Given the description of an element on the screen output the (x, y) to click on. 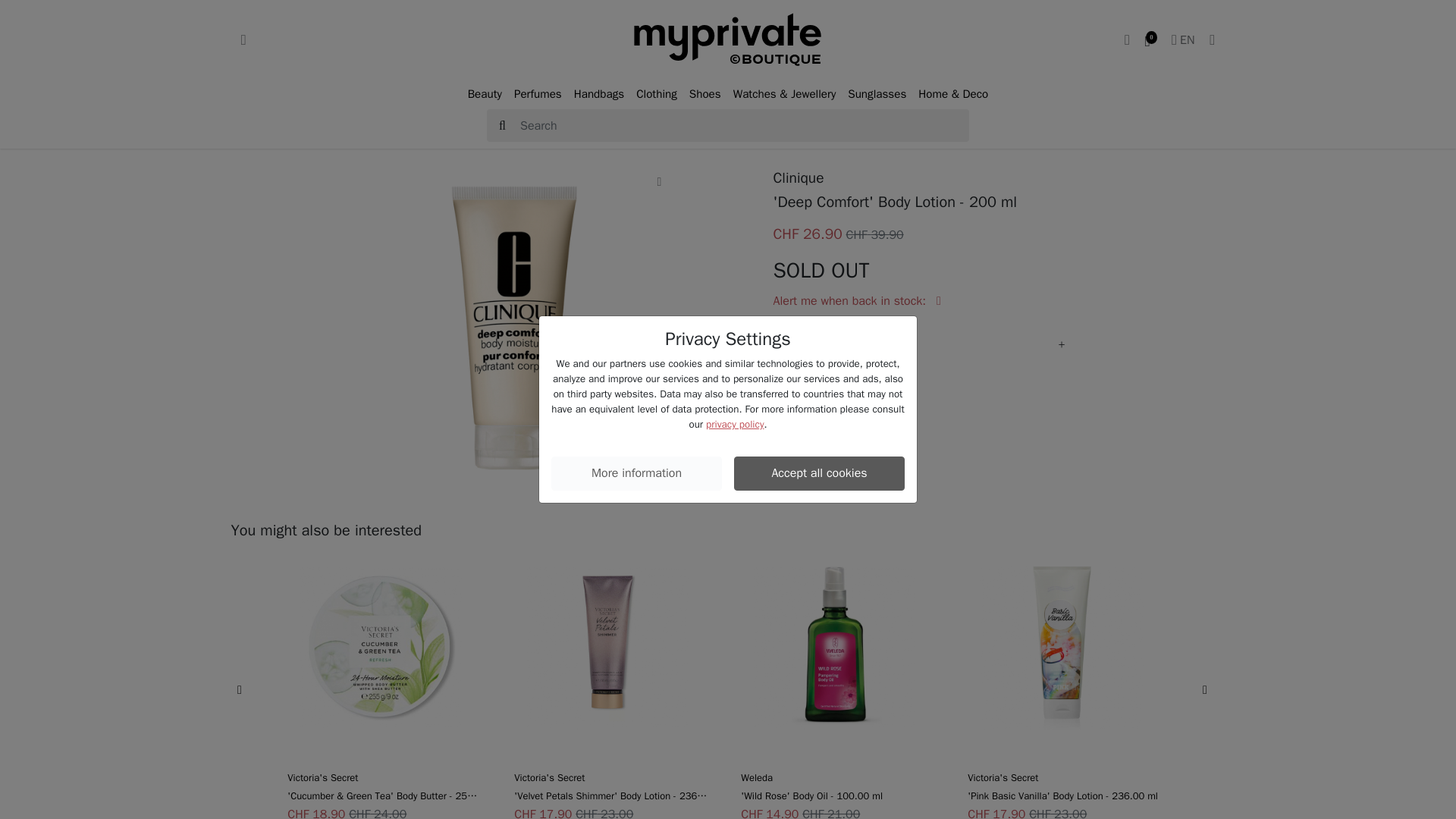
Sunglasses (876, 93)
Clothing (656, 93)
Perfumes (537, 93)
EN (1182, 40)
Beauty (484, 93)
Handbags (598, 93)
Shoes (704, 93)
